Given the description of an element on the screen output the (x, y) to click on. 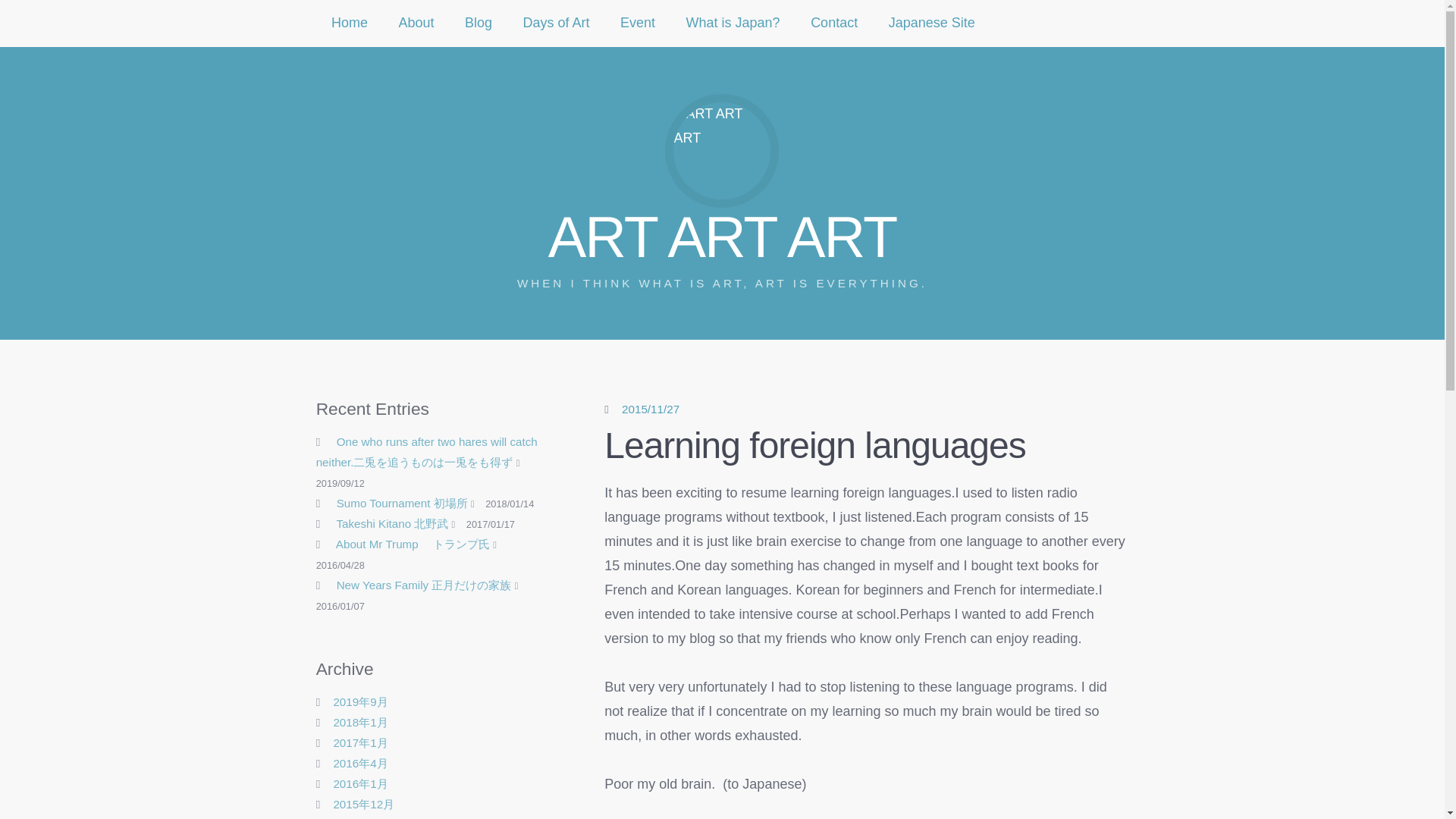
Event (638, 23)
Home (349, 23)
Permalink to Learning foreign languages (650, 408)
About (415, 23)
Days of Art (555, 23)
Contact (833, 23)
Blog (478, 23)
Japanese Site (931, 23)
